Given the description of an element on the screen output the (x, y) to click on. 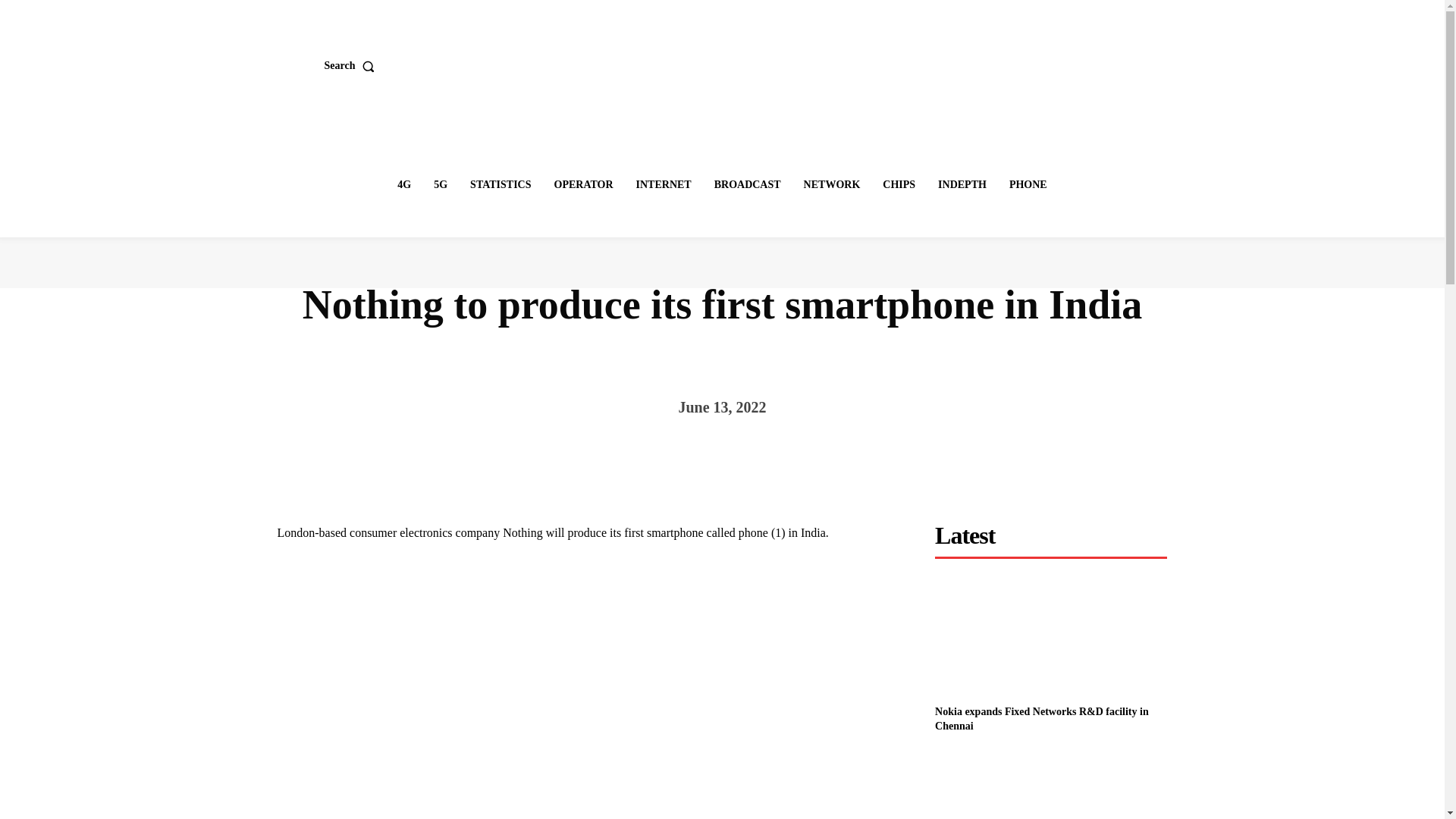
4G (404, 184)
CHIPS (899, 184)
PHONE (1027, 184)
BROADCAST (747, 184)
STATISTICS (500, 184)
INTERNET (663, 184)
5G (440, 184)
OPERATOR (584, 184)
Search (352, 65)
